Given the description of an element on the screen output the (x, y) to click on. 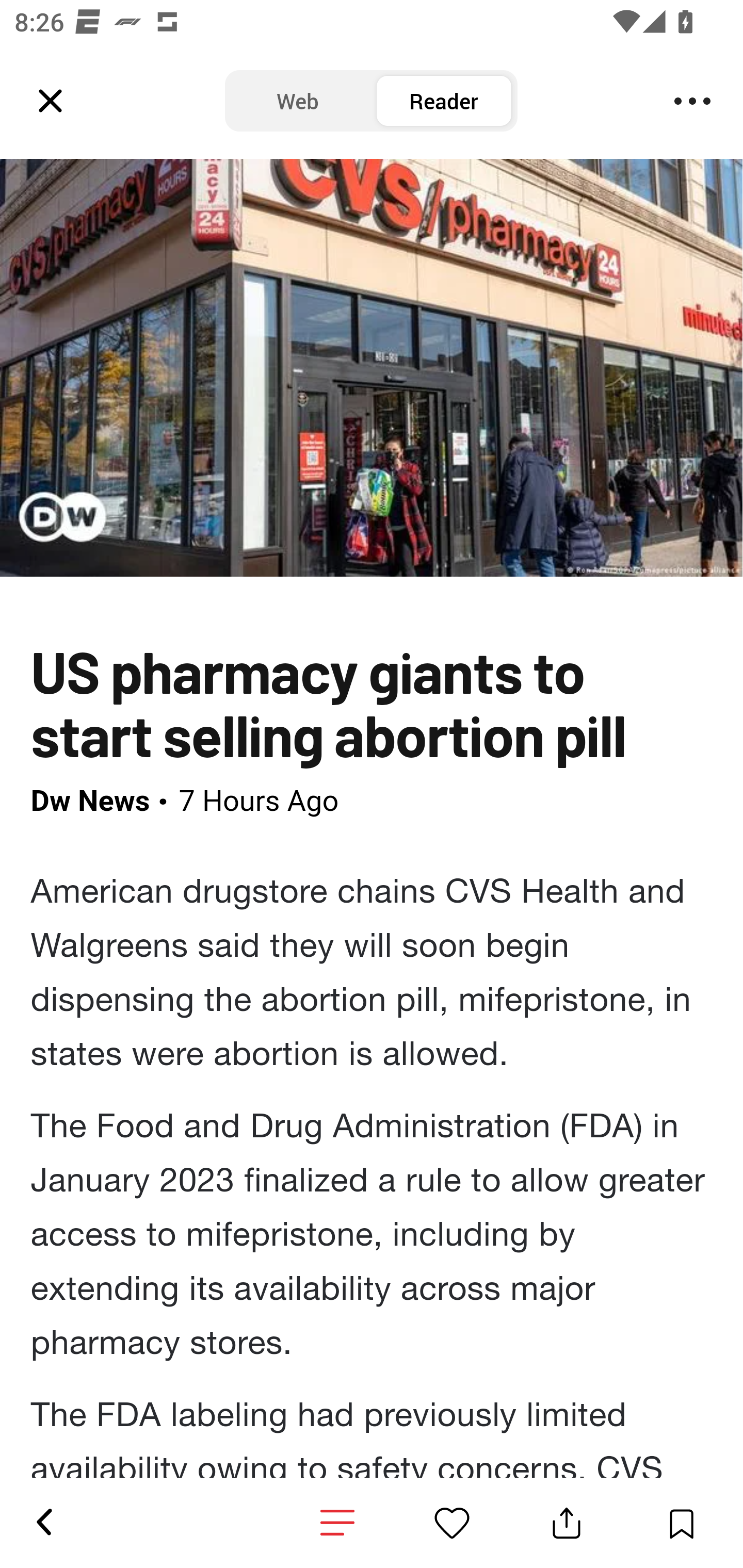
Leading Icon (50, 101)
Web (297, 101)
Menu (692, 101)
Back Button (43, 1523)
News Detail Emotion (451, 1523)
Share Button (566, 1523)
Save Button (680, 1523)
News Detail Emotion (337, 1523)
